Given the description of an element on the screen output the (x, y) to click on. 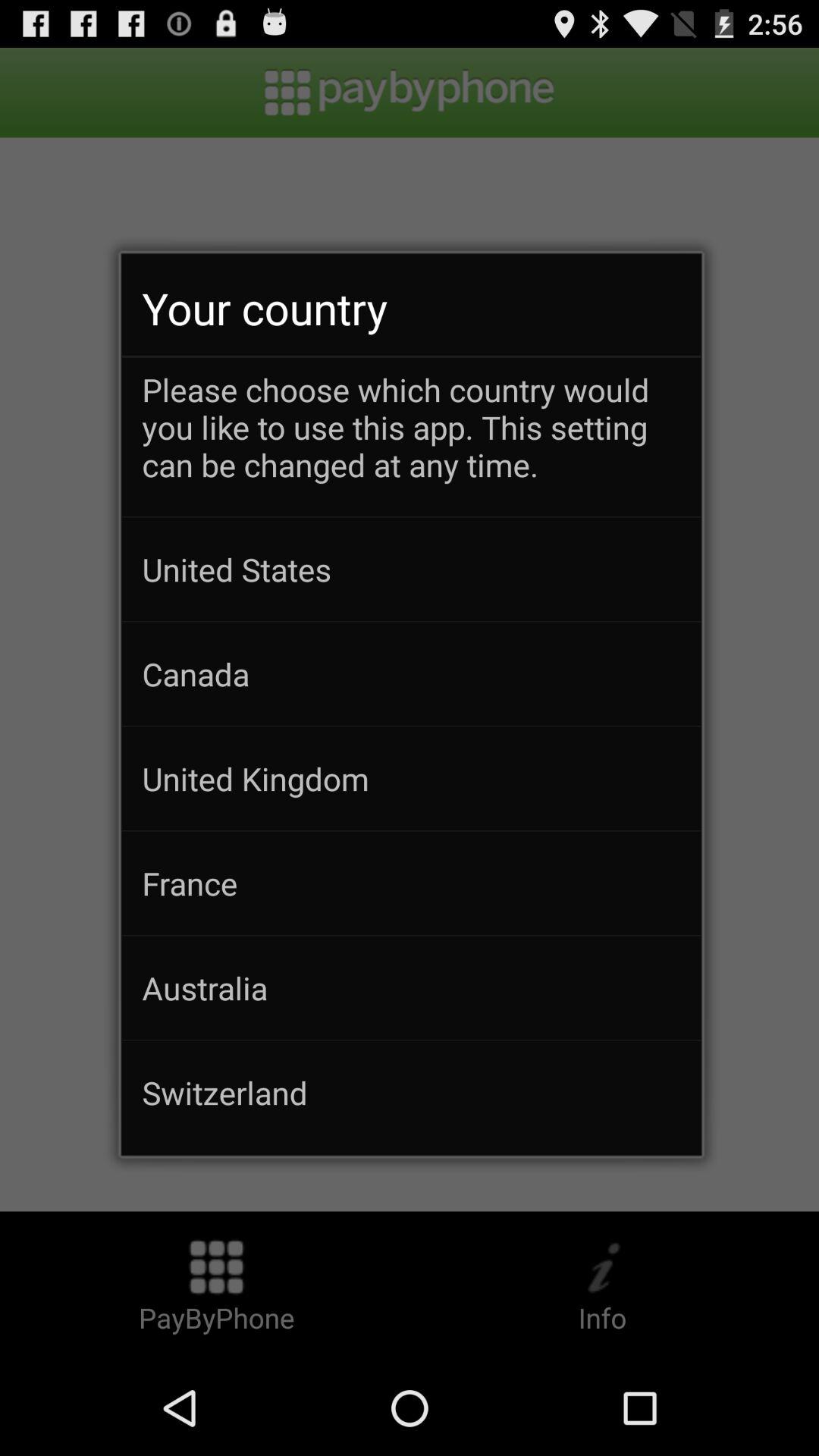
scroll to the canada (411, 673)
